Given the description of an element on the screen output the (x, y) to click on. 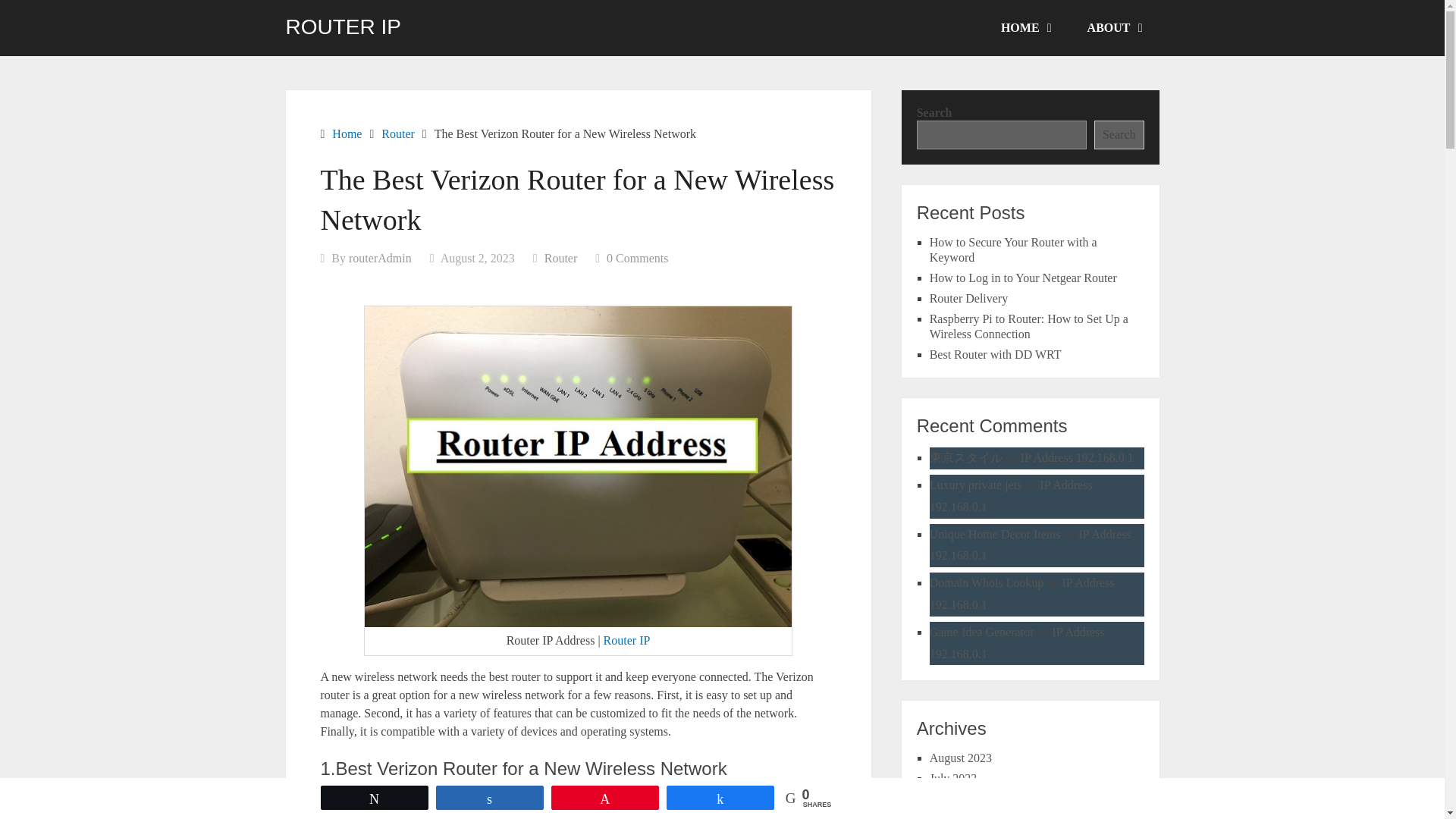
IP Address 192.168.0.1 (1077, 457)
ABOUT (1113, 28)
HOME (1024, 28)
Router (561, 257)
Posts by routerAdmin (380, 257)
Raspberry Pi to Router: How to Set Up a Wireless Connection (1029, 326)
Luxury private jets (976, 484)
Search (1119, 134)
Best Router with DD WRT (995, 354)
0 Comments (637, 257)
How to Log in to Your Netgear Router (1023, 277)
Unique Home Decor Items (995, 533)
IP Address 192.168.0.1 (1011, 495)
How to Secure Your Router with a Keyword (1013, 249)
Router Delivery (969, 297)
